Given the description of an element on the screen output the (x, y) to click on. 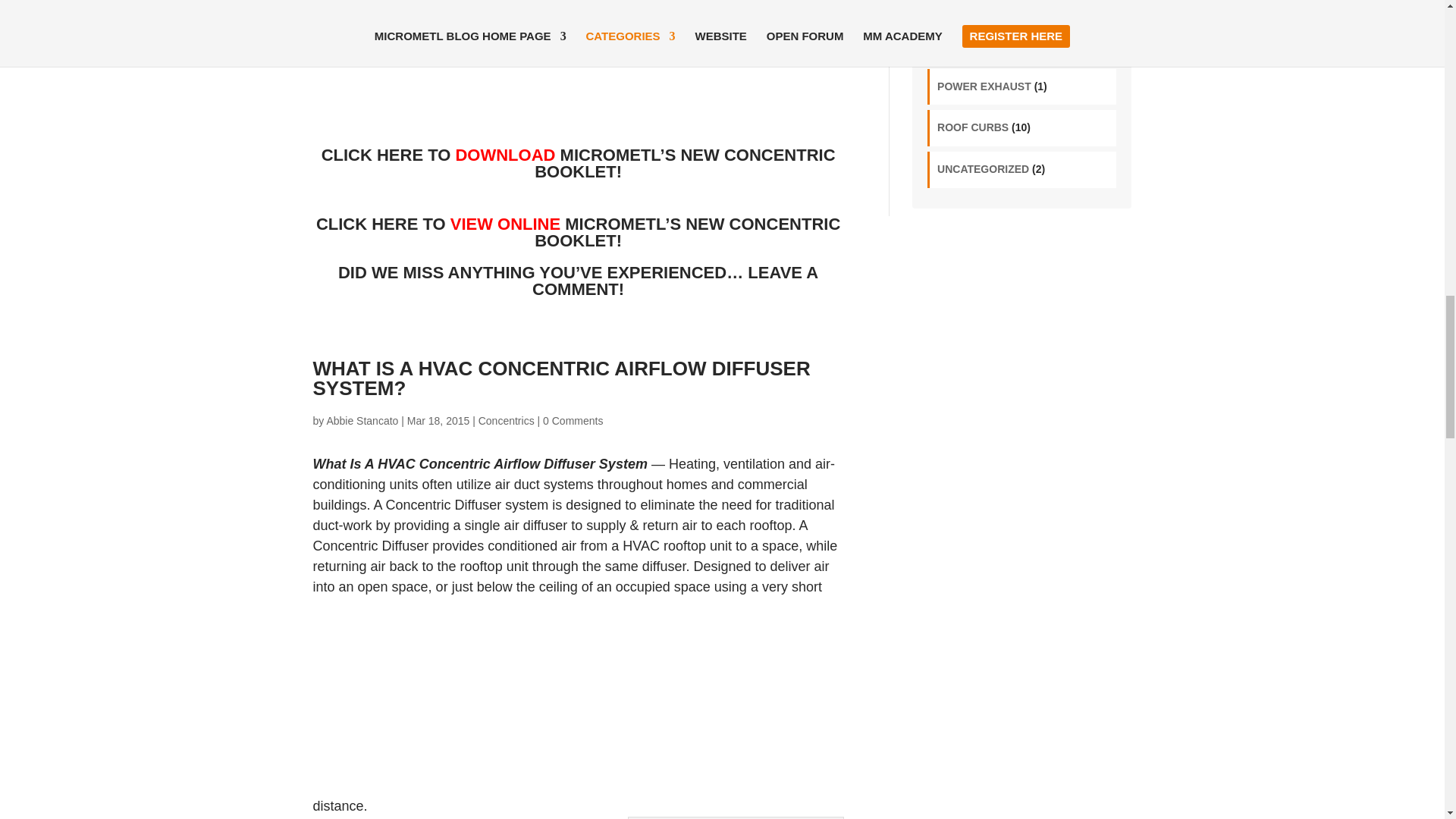
Posts by Abbie Stancato (361, 420)
Abbie Stancato (361, 420)
MicroMetl's New Concentric Booklet! (578, 162)
Concentrics (506, 420)
MicroMetl's New Concentric Booklet! (577, 232)
WHAT IS A HVAC CONCENTRIC AIRFLOW DIFFUSER SYSTEM? (561, 378)
